Given the description of an element on the screen output the (x, y) to click on. 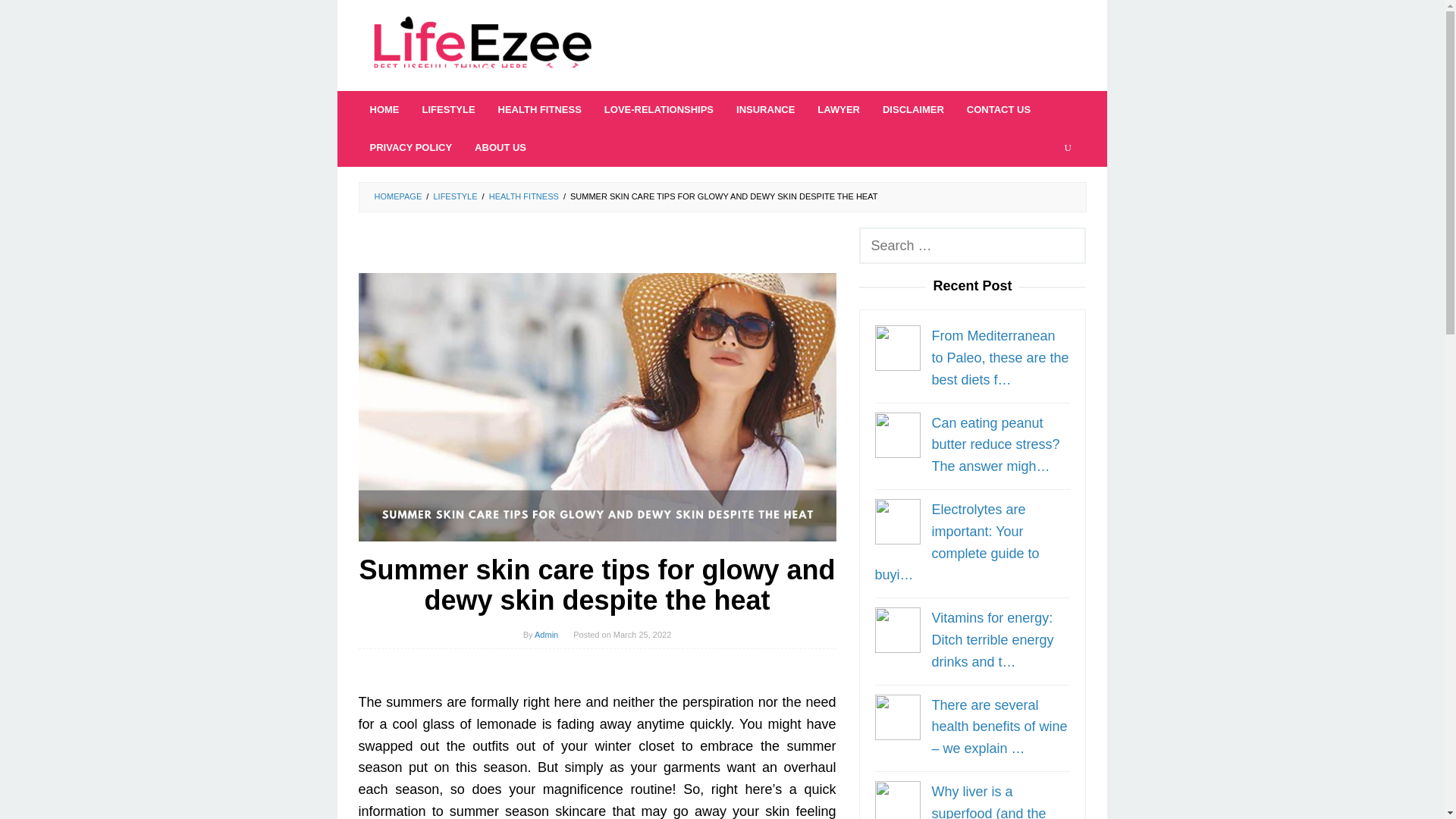
CONTACT US (998, 109)
PRIVACY POLICY (410, 147)
HOME (384, 109)
LOVE-RELATIONSHIPS (658, 109)
Lifeezee (481, 45)
ABOUT US (500, 147)
Admin (545, 634)
DISCLAIMER (912, 109)
Search (33, 18)
LAWYER (838, 109)
